Given the description of an element on the screen output the (x, y) to click on. 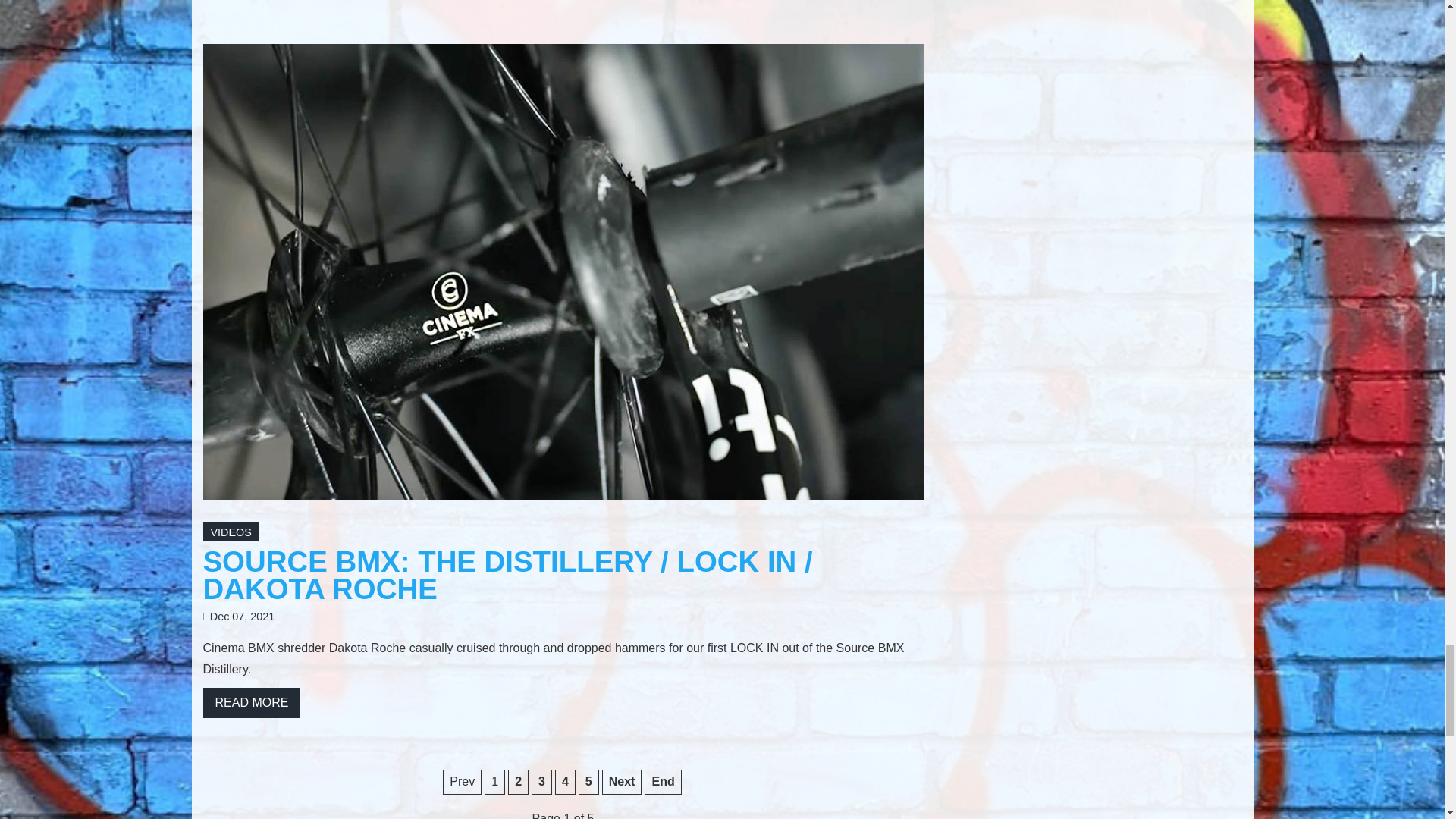
End (663, 781)
3 (541, 781)
4 (564, 781)
2 (518, 781)
Next (622, 781)
5 (588, 781)
